Given the description of an element on the screen output the (x, y) to click on. 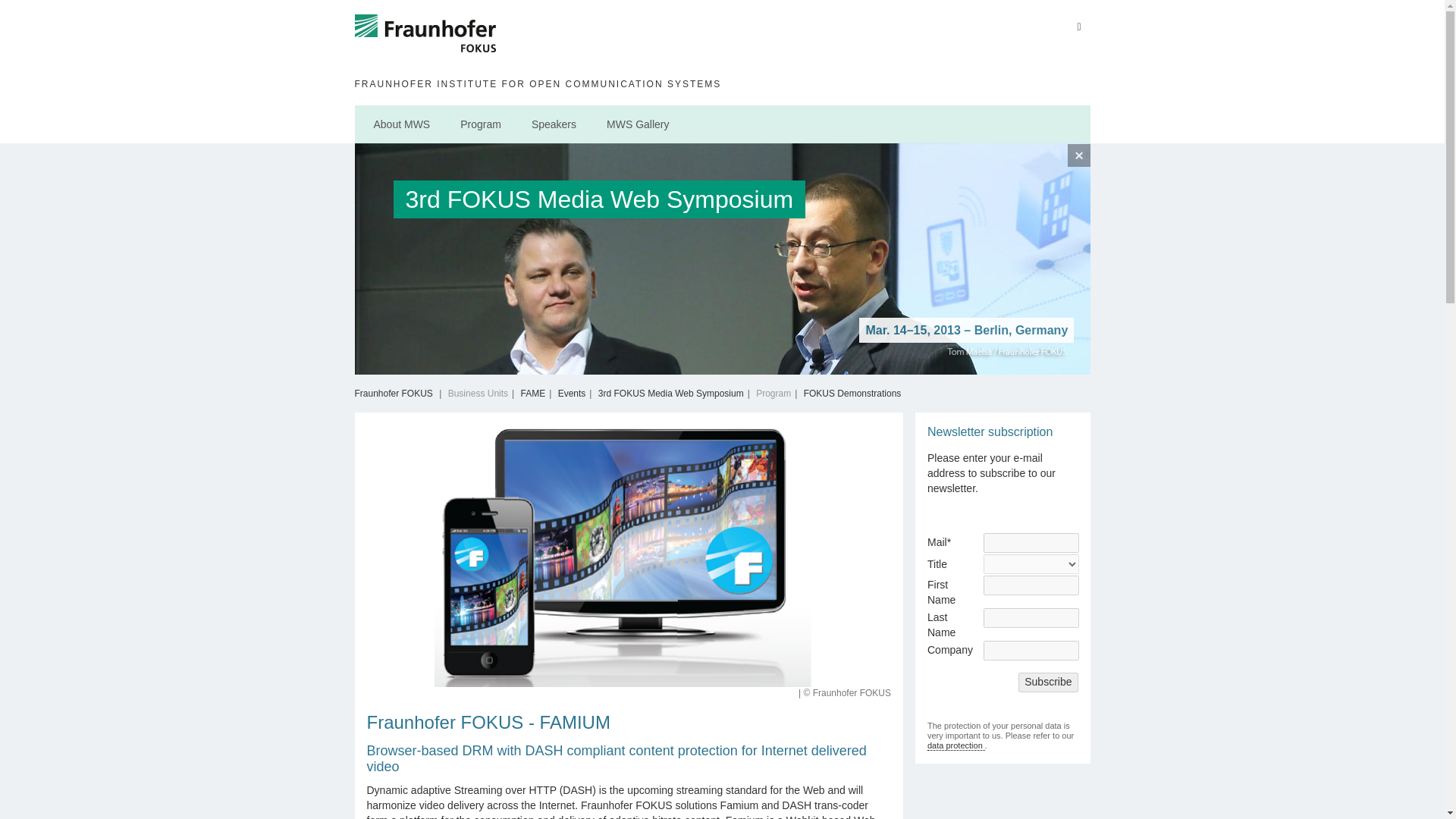
Program (480, 124)
Fraunhofer FOKUS (393, 393)
3rd FOKUS Media Web Symposium (679, 203)
Fraunhofer FOKUS (426, 39)
MWS Gallery (637, 124)
data protection (956, 746)
Events (571, 393)
3rd FOKUS Media Web Symposium (671, 393)
Subscribe (1047, 682)
FOKUS Demonstrations (852, 393)
FRAUNHOFER INSTITUTE FOR OPEN COMMUNICATION SYSTEMS (719, 82)
Speakers (553, 124)
FAME (533, 393)
About MWS (402, 124)
